Given the description of an element on the screen output the (x, y) to click on. 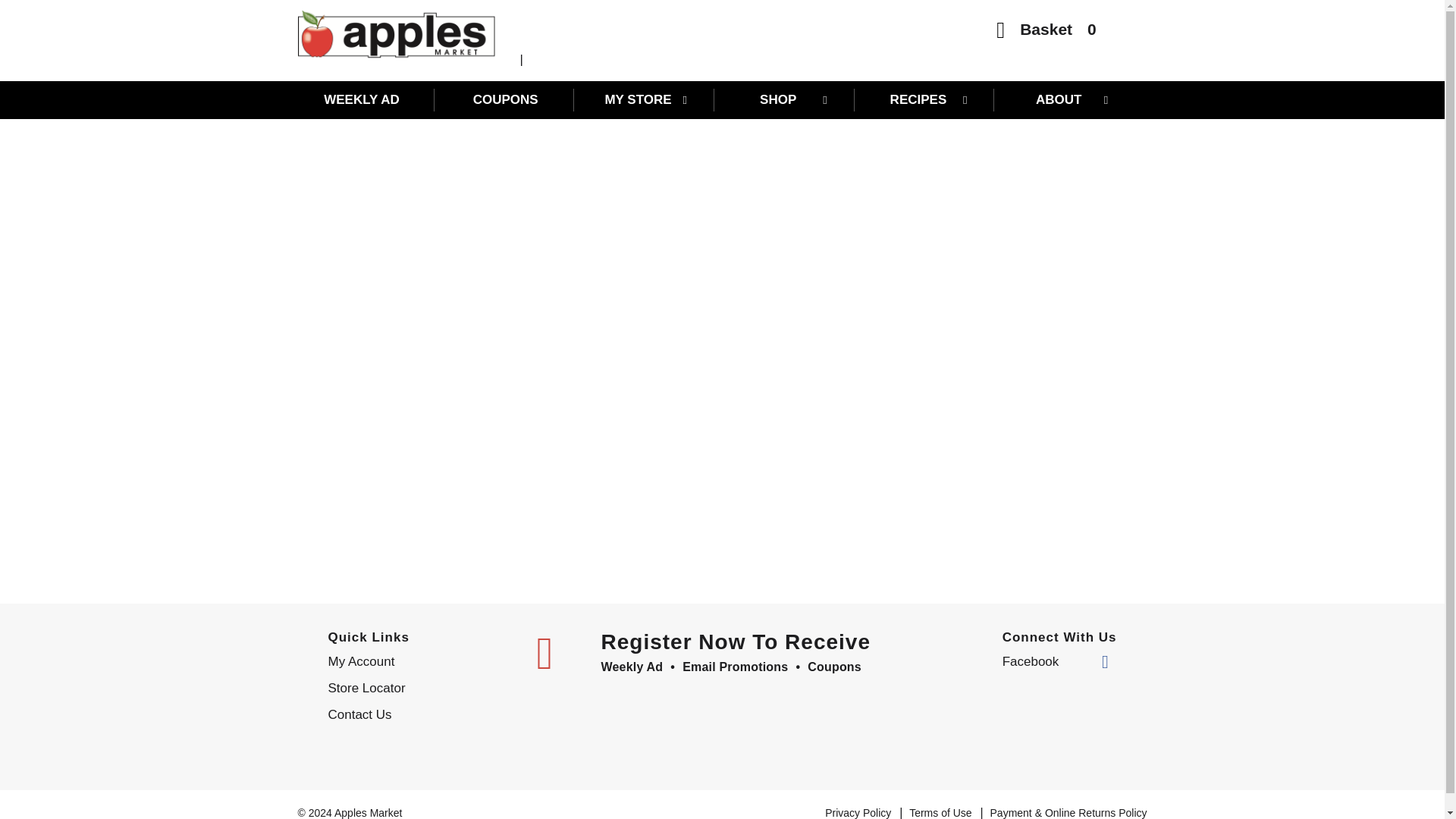
COUPONS (505, 99)
Contact Us (420, 714)
facebook (1055, 661)
SHOP (785, 99)
Basket0 (1045, 33)
MY STORE (646, 99)
Facebook (1055, 661)
RECIPES (925, 99)
ABOUT (1065, 99)
My Account (420, 661)
Store Locator (420, 688)
WEEKLY AD (365, 99)
